Given the description of an element on the screen output the (x, y) to click on. 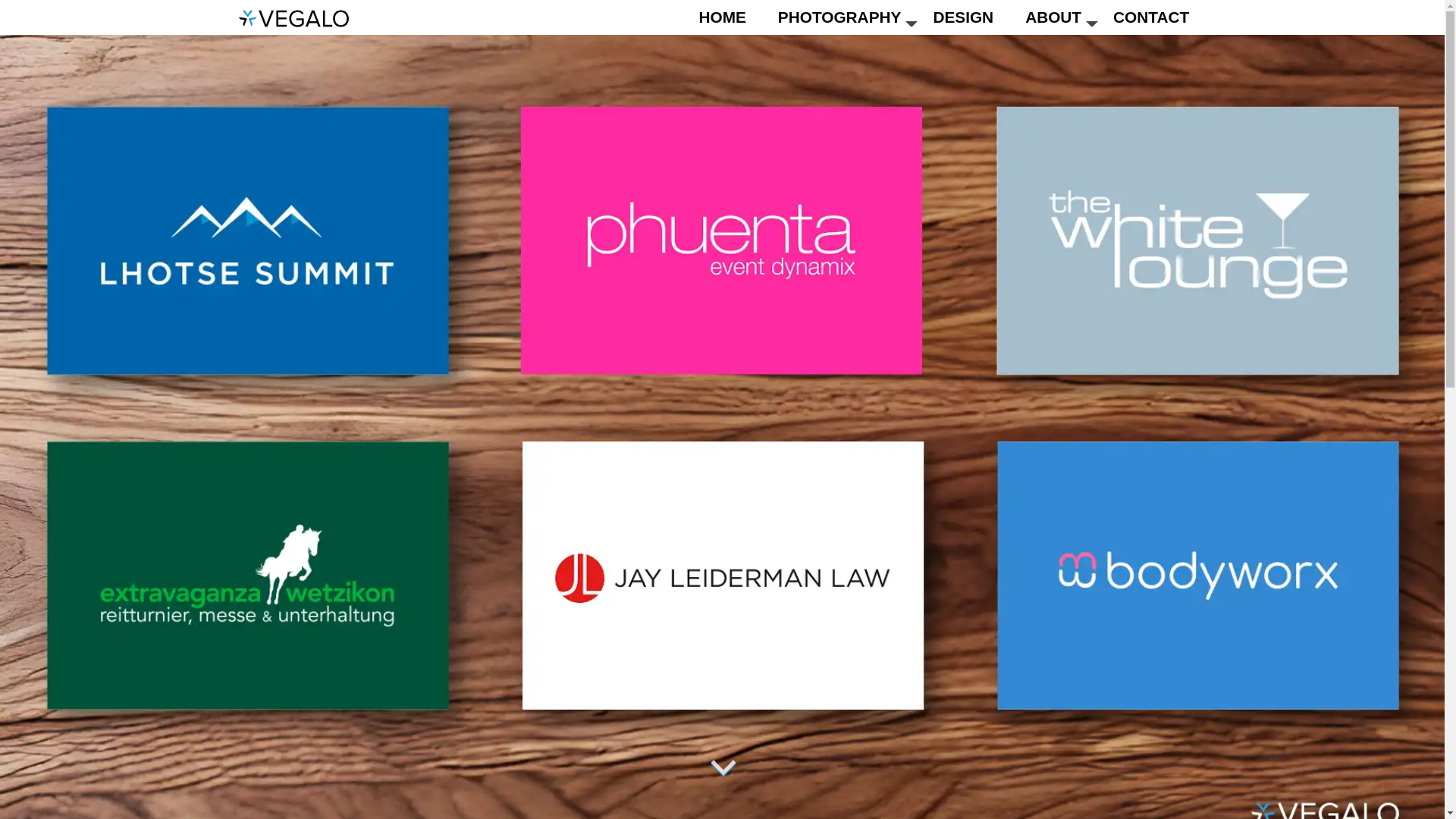
ABOUT (1061, 17)
DESIGN (970, 17)
PHOTOGRAPHY (848, 17)
HOME (730, 17)
CONTACT (1158, 17)
